Given the description of an element on the screen output the (x, y) to click on. 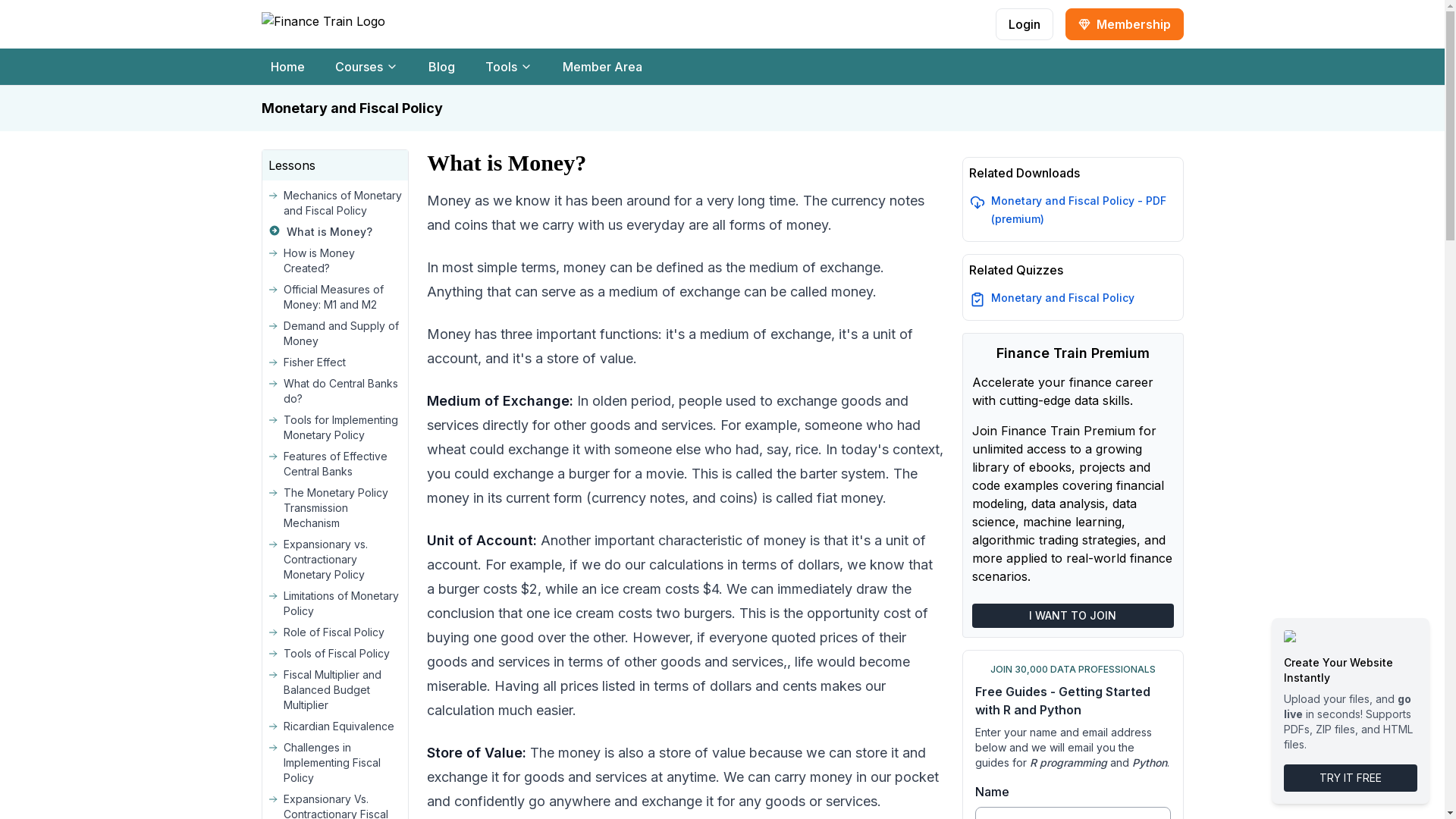
Login (1023, 24)
Tools for Implementing Monetary Policy (335, 427)
Member Area (601, 66)
Demand and Supply of Money (335, 333)
What is Money? (335, 231)
Blog (441, 66)
Fisher Effect (508, 66)
Official Measures of Money: M1 and M2 (335, 361)
The Monetary Policy Transmission Mechanism (335, 296)
